Given the description of an element on the screen output the (x, y) to click on. 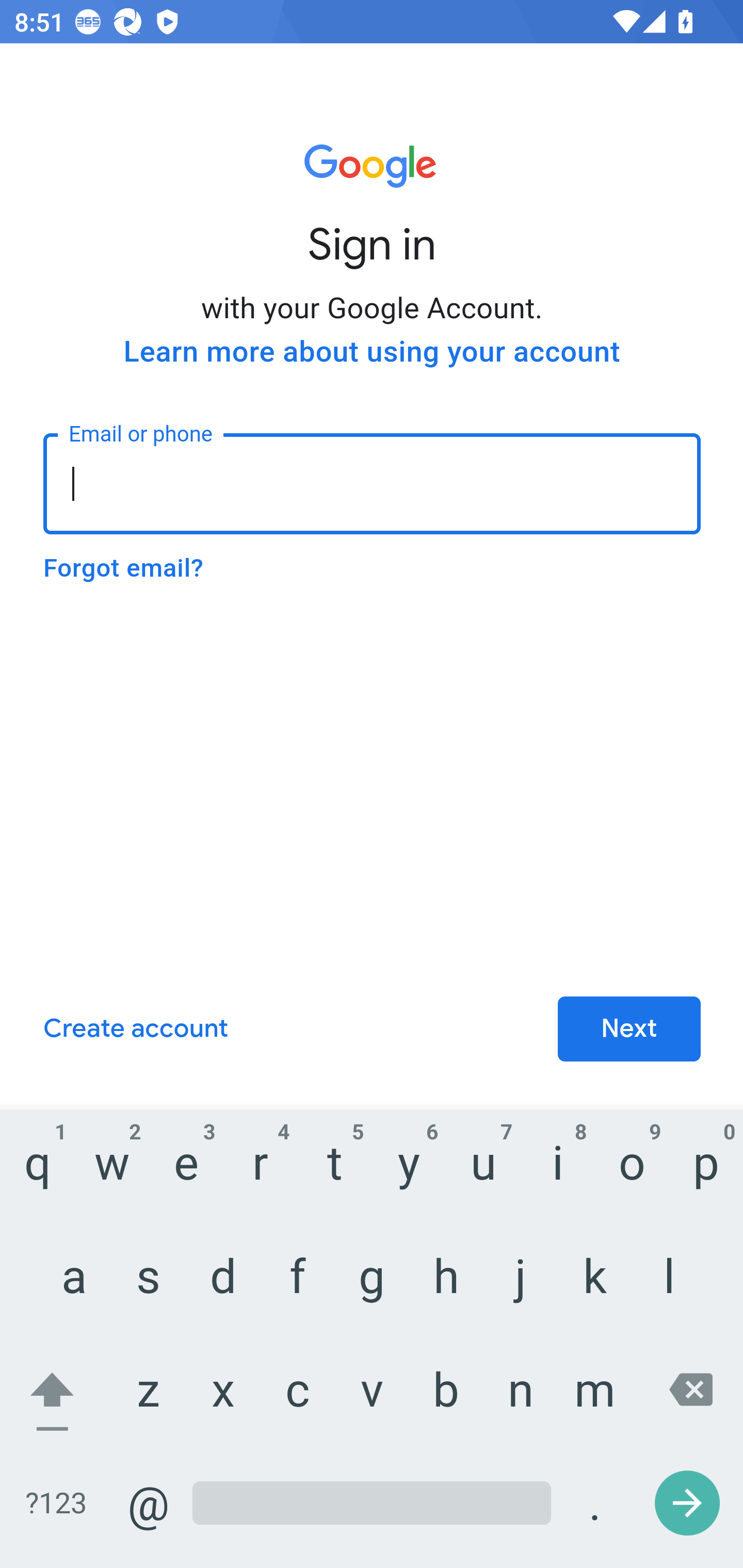
Learn more about using your account (371, 351)
Forgot email? (123, 568)
Create account (134, 1029)
Next (629, 1029)
